Given the description of an element on the screen output the (x, y) to click on. 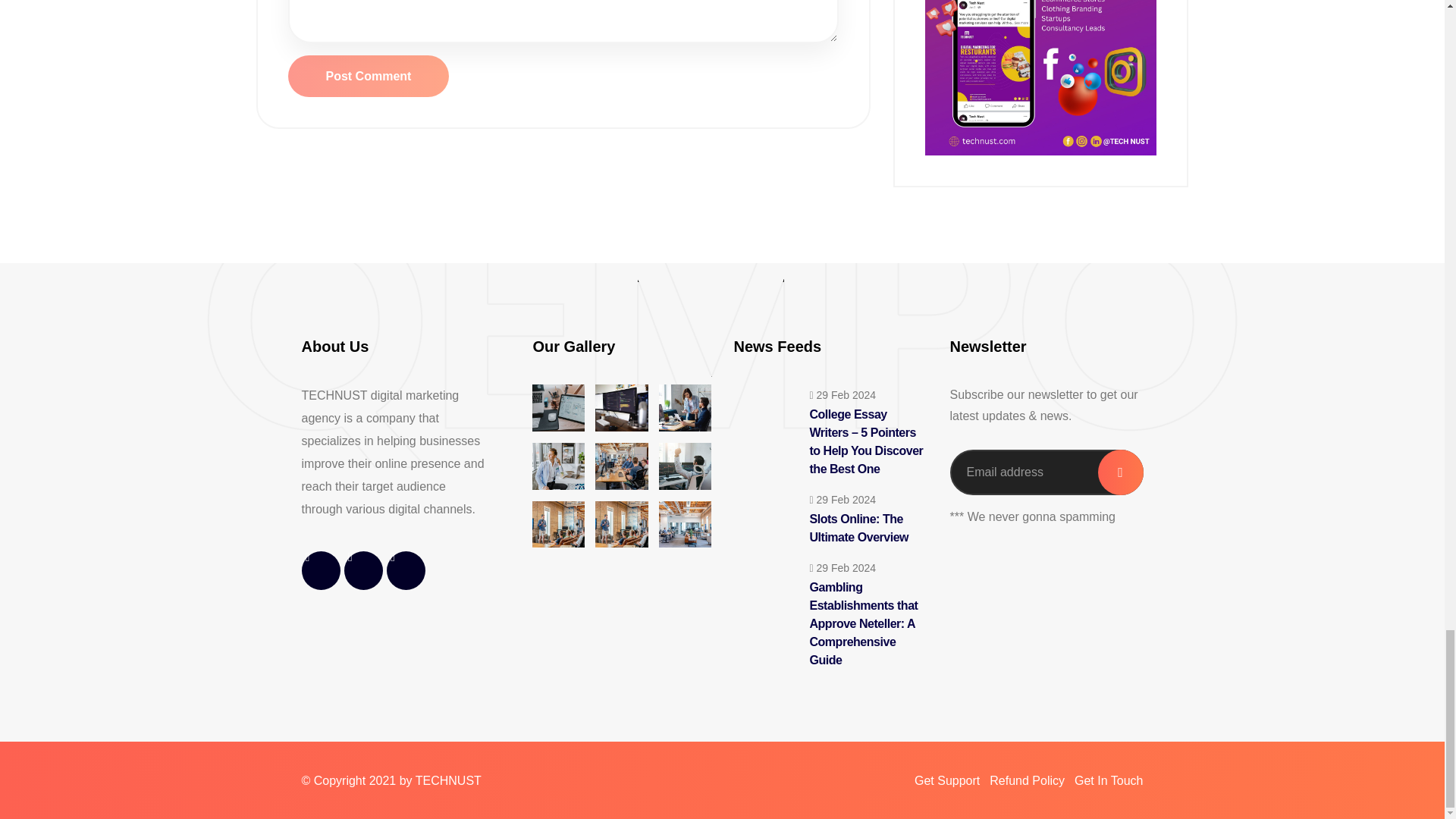
Sponsor Adds (1040, 77)
Post Comment (368, 76)
Post Comment (368, 76)
